Given the description of an element on the screen output the (x, y) to click on. 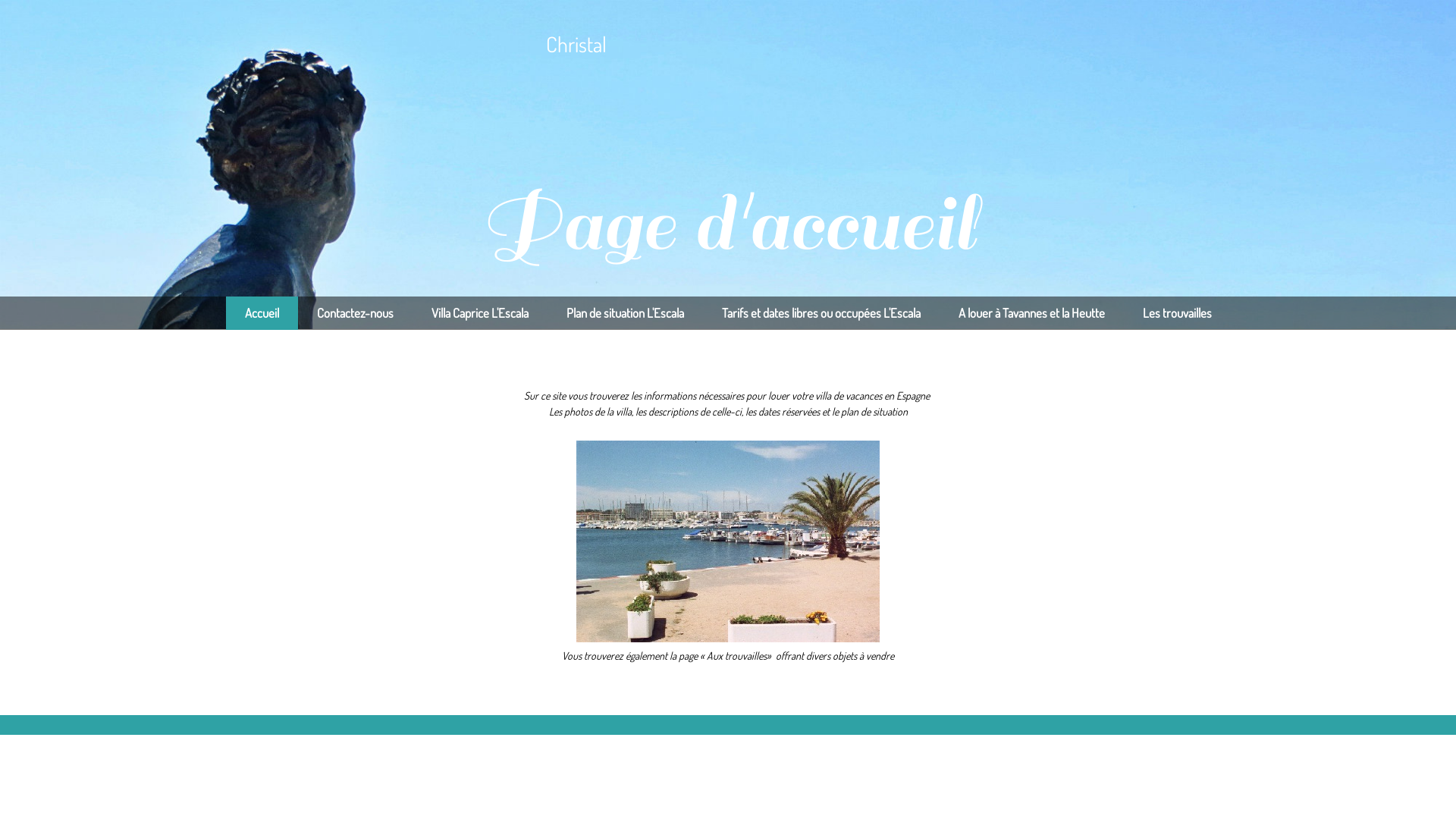
Contactez-nous Element type: text (354, 312)
                                        Christal Element type: text (728, 43)
Accueil Element type: text (261, 312)
Plan de situation L'Escala Element type: text (624, 312)
Les trouvailles Element type: text (1176, 312)
Villa Caprice L'Escala Element type: text (479, 312)
